Given the description of an element on the screen output the (x, y) to click on. 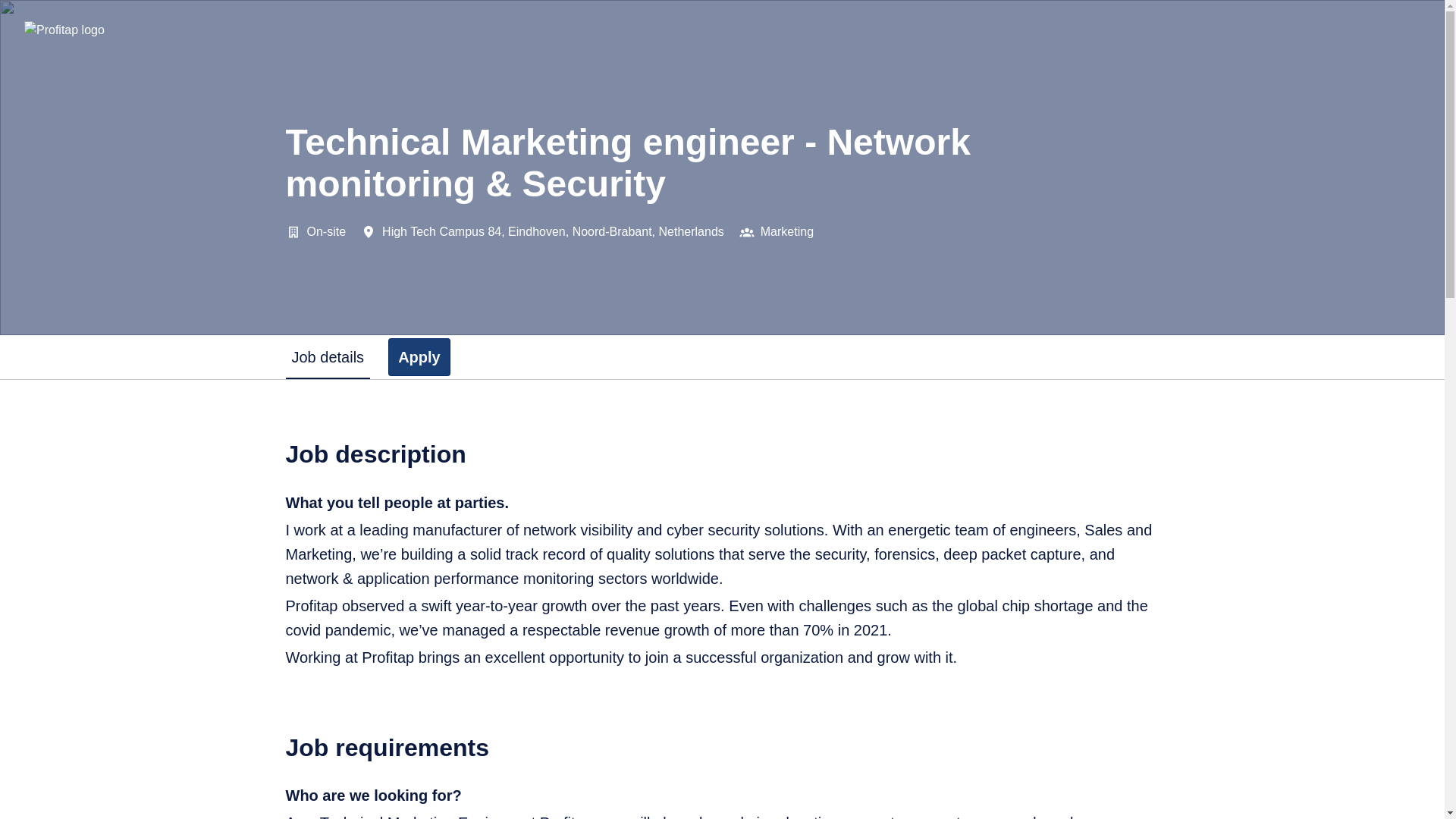
Job details (327, 356)
Homepage (63, 30)
Apply (418, 356)
